Given the description of an element on the screen output the (x, y) to click on. 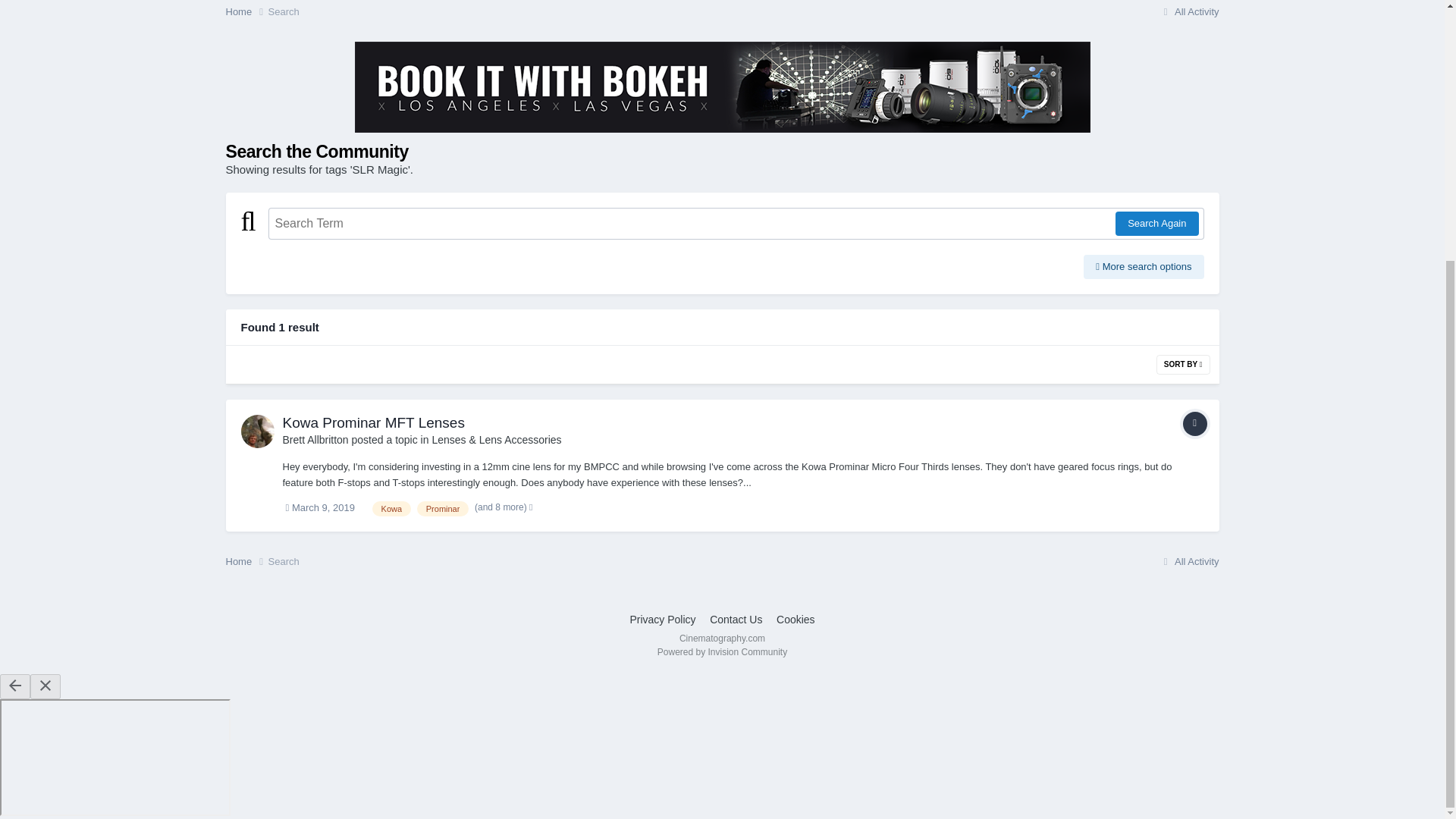
Go to Brett Allbritton's profile (314, 439)
Find other content tagged with 'Kowa' (392, 508)
Home (246, 11)
Topic (1194, 423)
Find other content tagged with 'Prominar' (442, 508)
Go to Brett Allbritton's profile (258, 430)
